Given the description of an element on the screen output the (x, y) to click on. 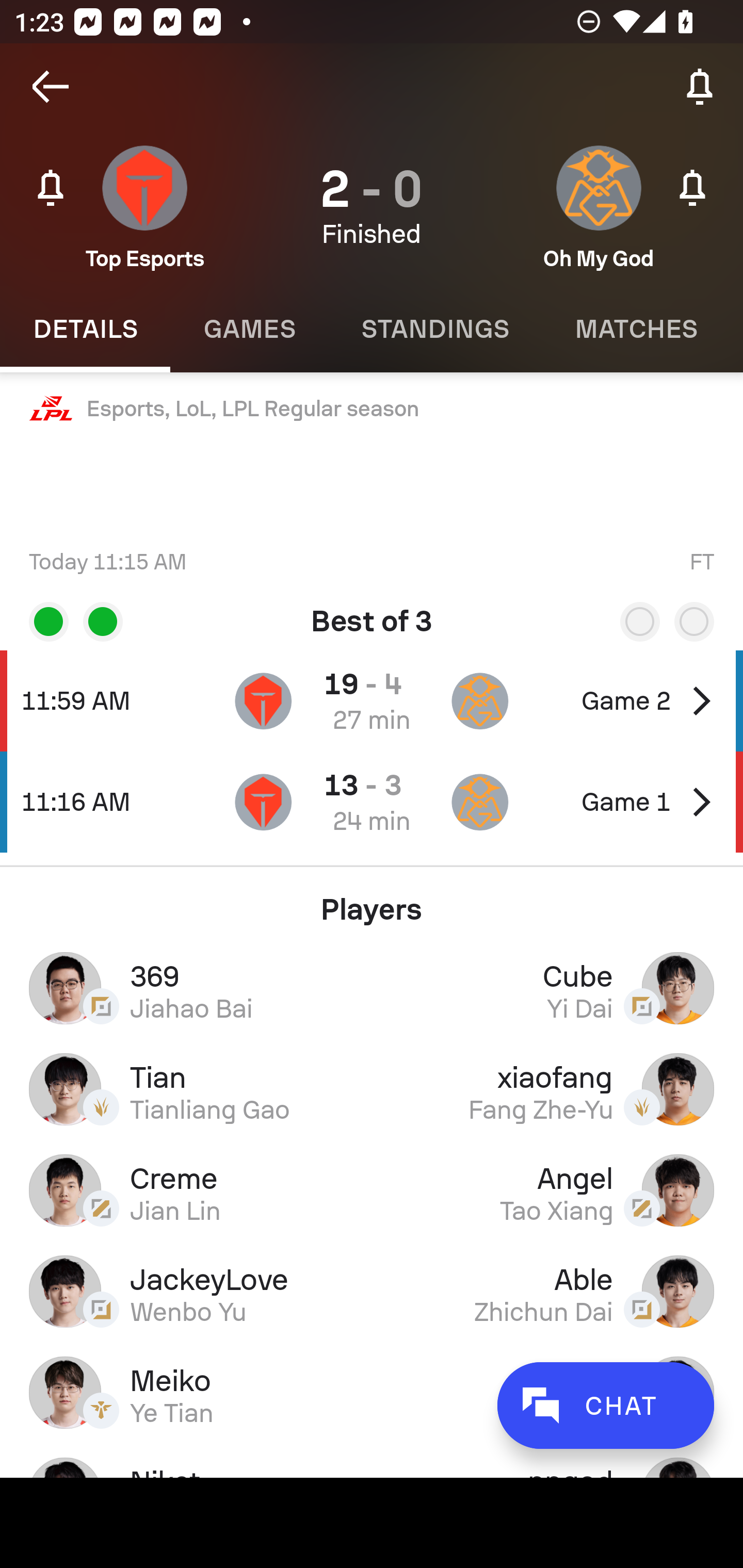
Navigate up (50, 86)
Games GAMES (249, 329)
Standings STANDINGS (434, 329)
Matches MATCHES (635, 329)
Esports, LoL, LPL Regular season (371, 409)
Best of 3 (371, 614)
11:59 AM 19 - 4 27 min Game 2 (371, 700)
11:16 AM 13 - 3 24 min Game 1 (371, 801)
Players (371, 902)
369 Cube Jiahao Bai Yi Dai (371, 987)
Tian xiaofang Tianliang Gao Fang Zhe-Yu (371, 1088)
Creme Angel Jian Lin Tao Xiang (371, 1189)
JackeyLove Able Wenbo Yu Zhichun Dai (371, 1291)
CHAT (605, 1405)
